Given the description of an element on the screen output the (x, y) to click on. 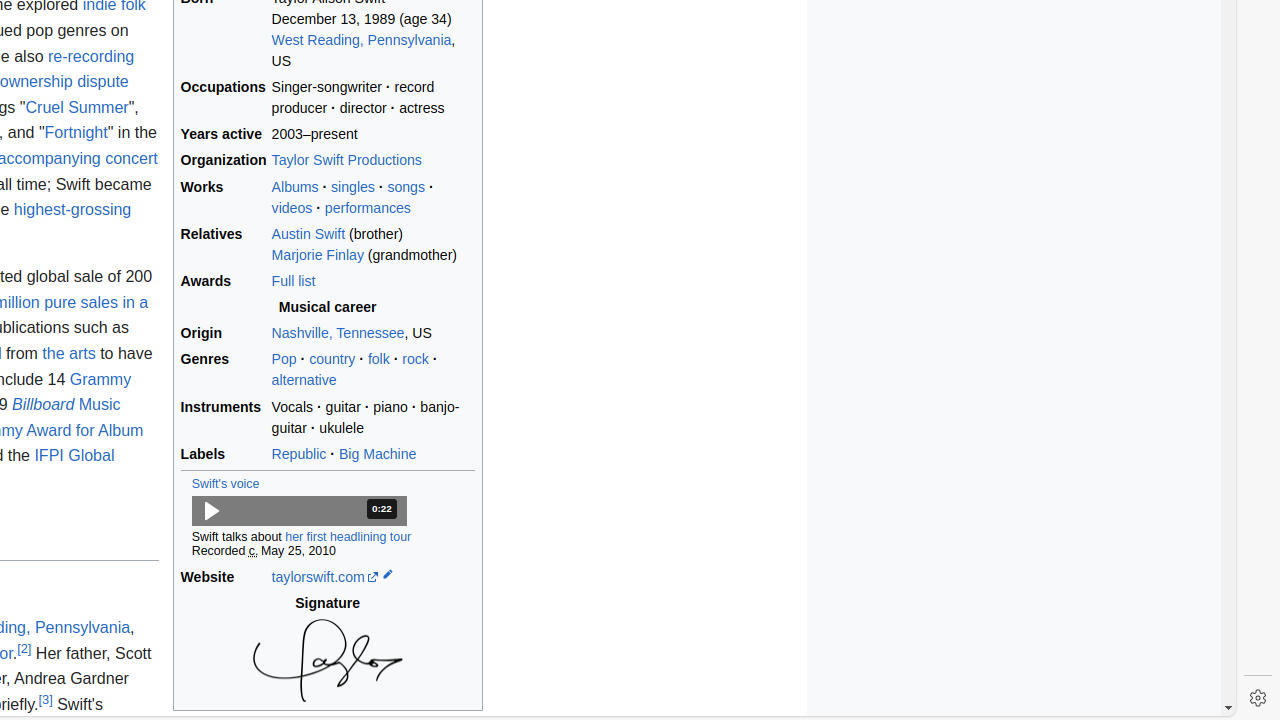
videos Element type: link (292, 207)
Swift's voice Play audio Duration: 22 seconds. Swift talks about her first headlining tour Recorded c. May 25, 2010 Element type: table-cell (327, 515)
West Reading, Pennsylvania Element type: link (361, 39)
Settings Element type: push-button (1258, 698)
Austin Swift (brother) Marjorie Finlay (grandmother) Element type: table-cell (373, 244)
